Given the description of an element on the screen output the (x, y) to click on. 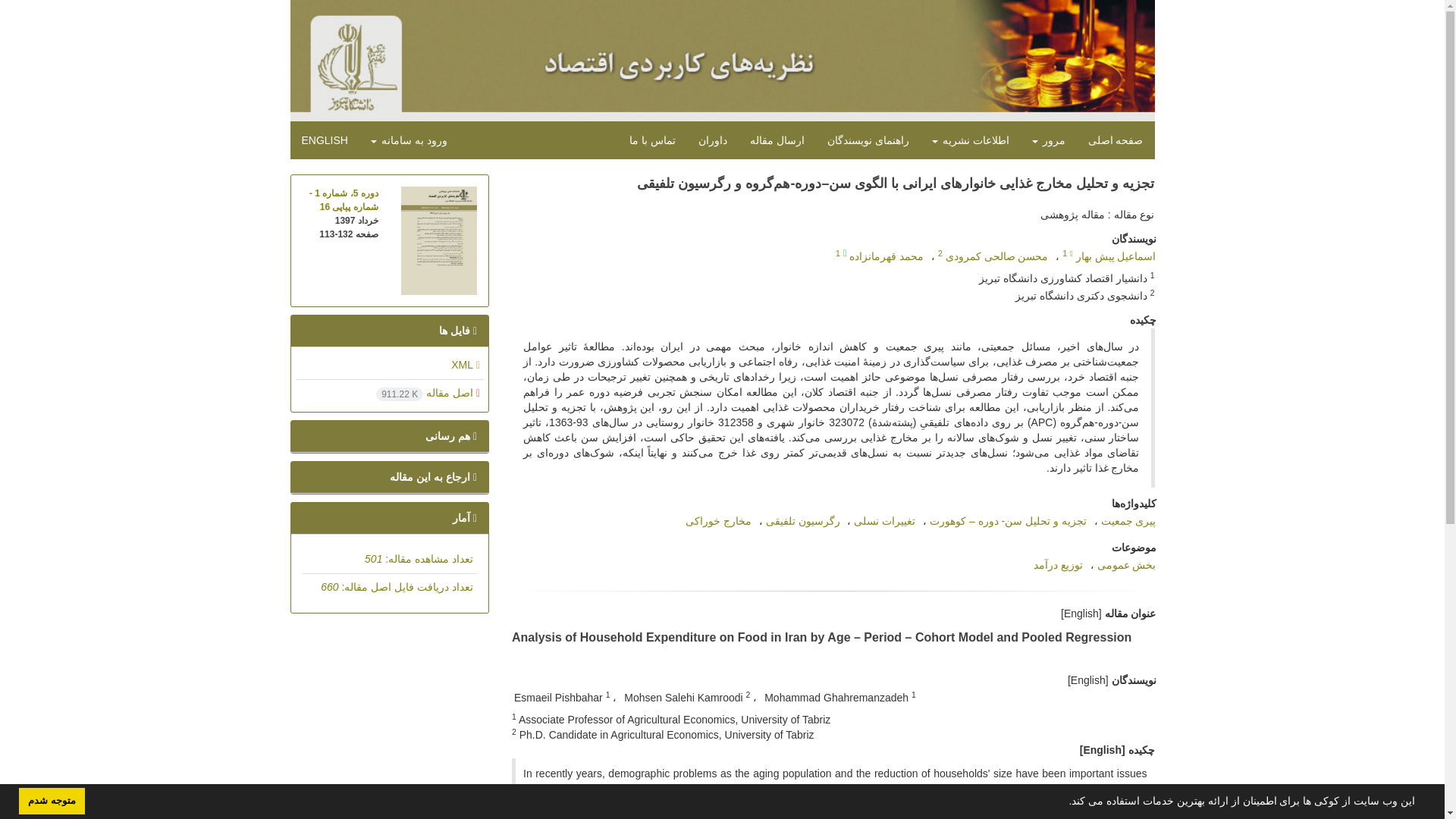
ENGLISH (323, 139)
